Given the description of an element on the screen output the (x, y) to click on. 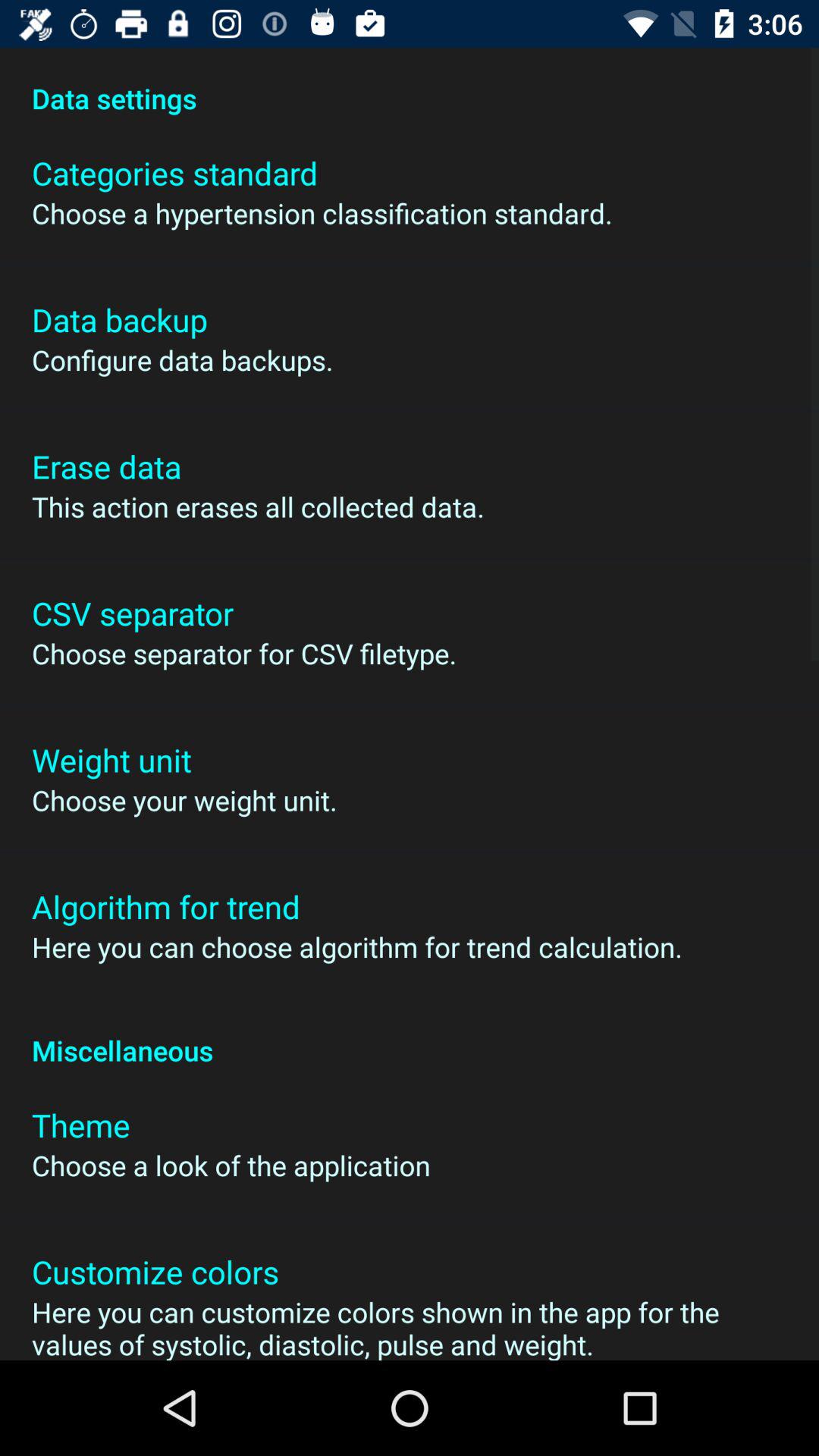
flip to erase data (106, 465)
